Given the description of an element on the screen output the (x, y) to click on. 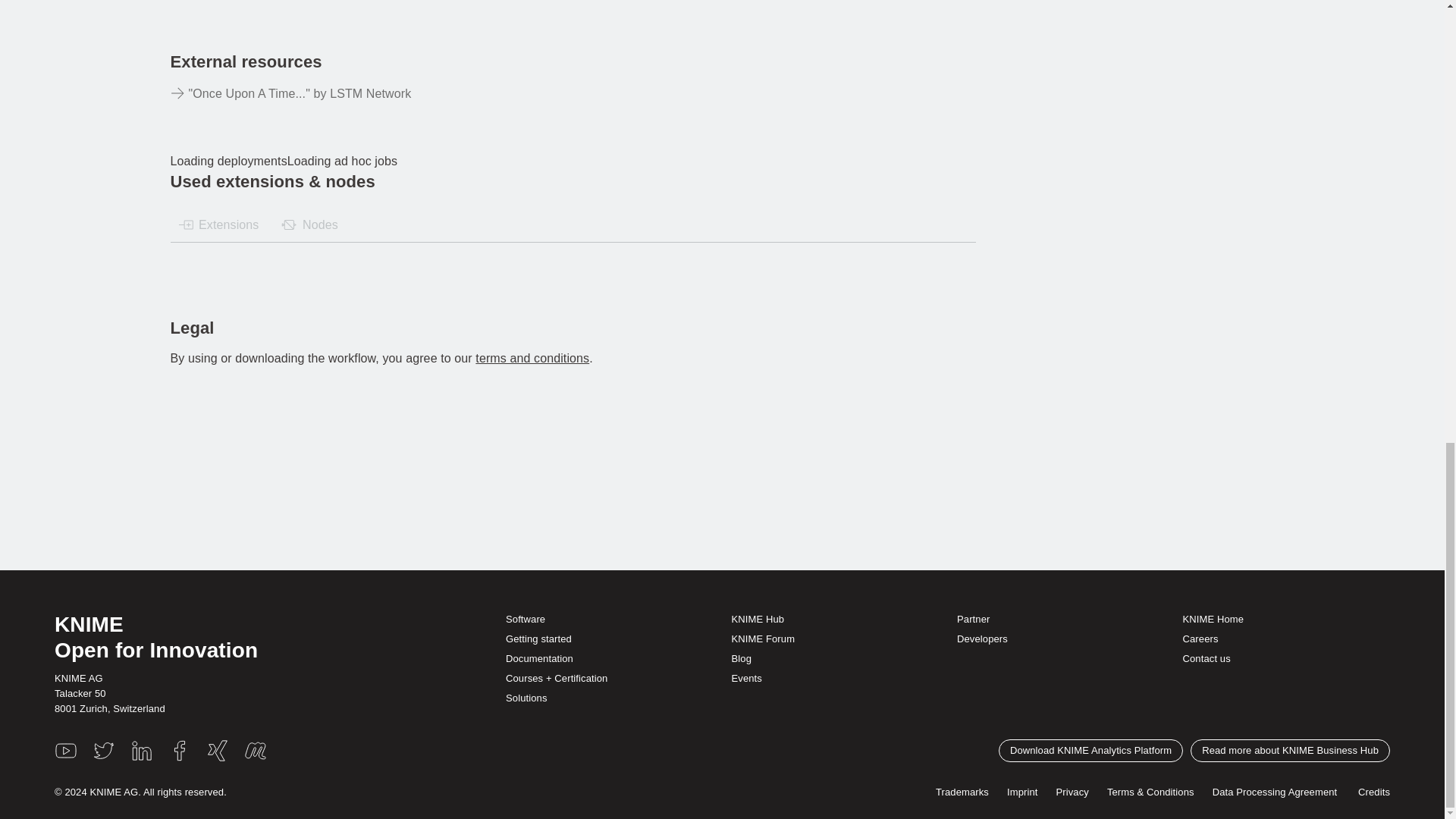
Events (746, 677)
Facebook (179, 750)
Contact us (1206, 658)
Partner (973, 618)
Getting started (538, 638)
XING (217, 750)
Careers (1200, 638)
Software (524, 618)
Developers (981, 638)
KNIME Forum (763, 638)
"Once Upon A Time..." by LSTM Network (375, 93)
Meetup (255, 750)
KNIME Hub (758, 618)
Documentation (539, 658)
